Given the description of an element on the screen output the (x, y) to click on. 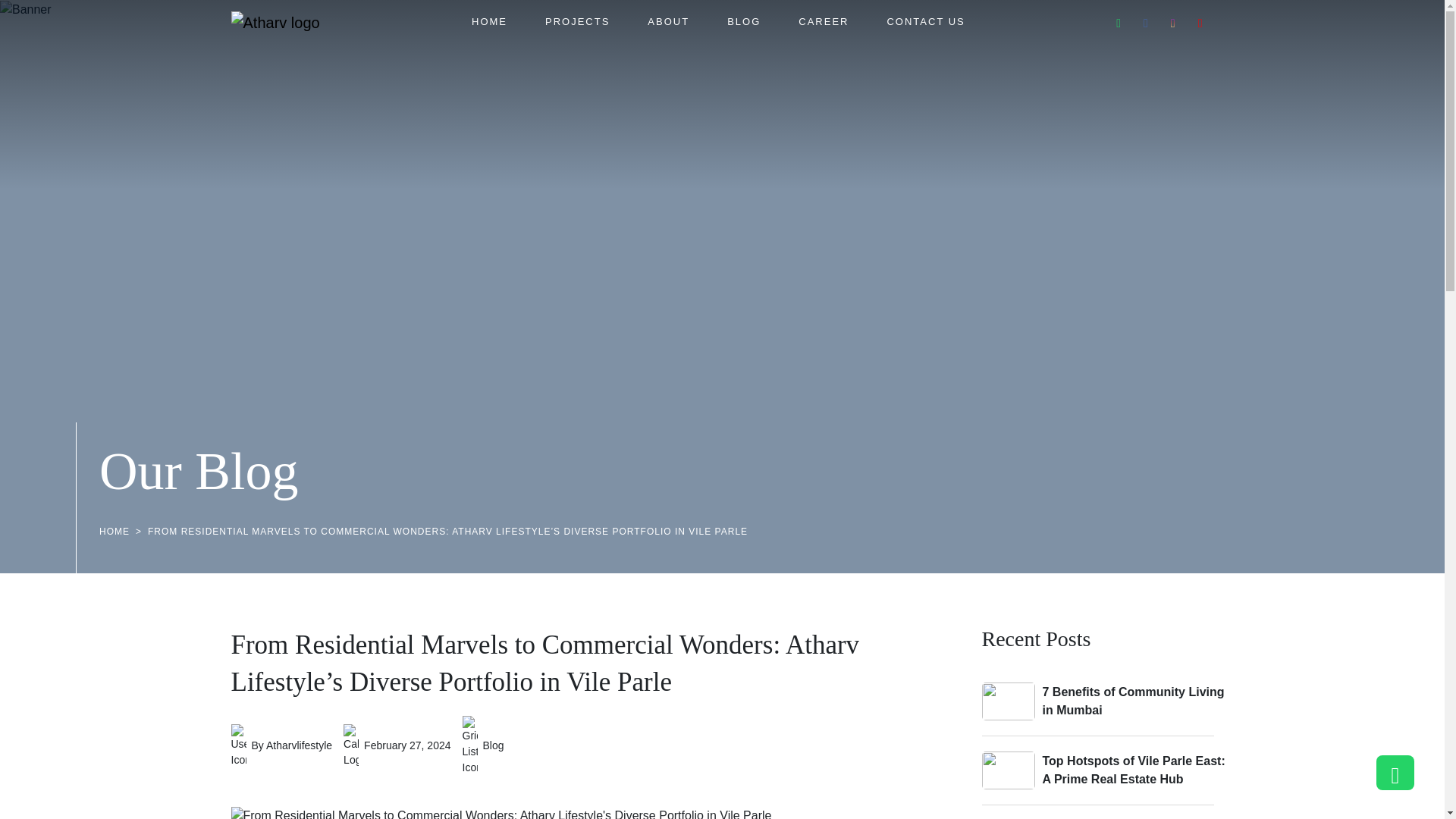
ABOUT (667, 21)
CAREER (822, 21)
CONTACT US (924, 21)
Atharv logo (274, 22)
BLOG (743, 21)
Top Hotspots of Vile Parle East: A Prime Real Estate Hub (1134, 770)
PROJECTS (577, 21)
HOME (488, 21)
7 Benefits of Community Living in Mumbai (1134, 701)
HOME (114, 531)
